Given the description of an element on the screen output the (x, y) to click on. 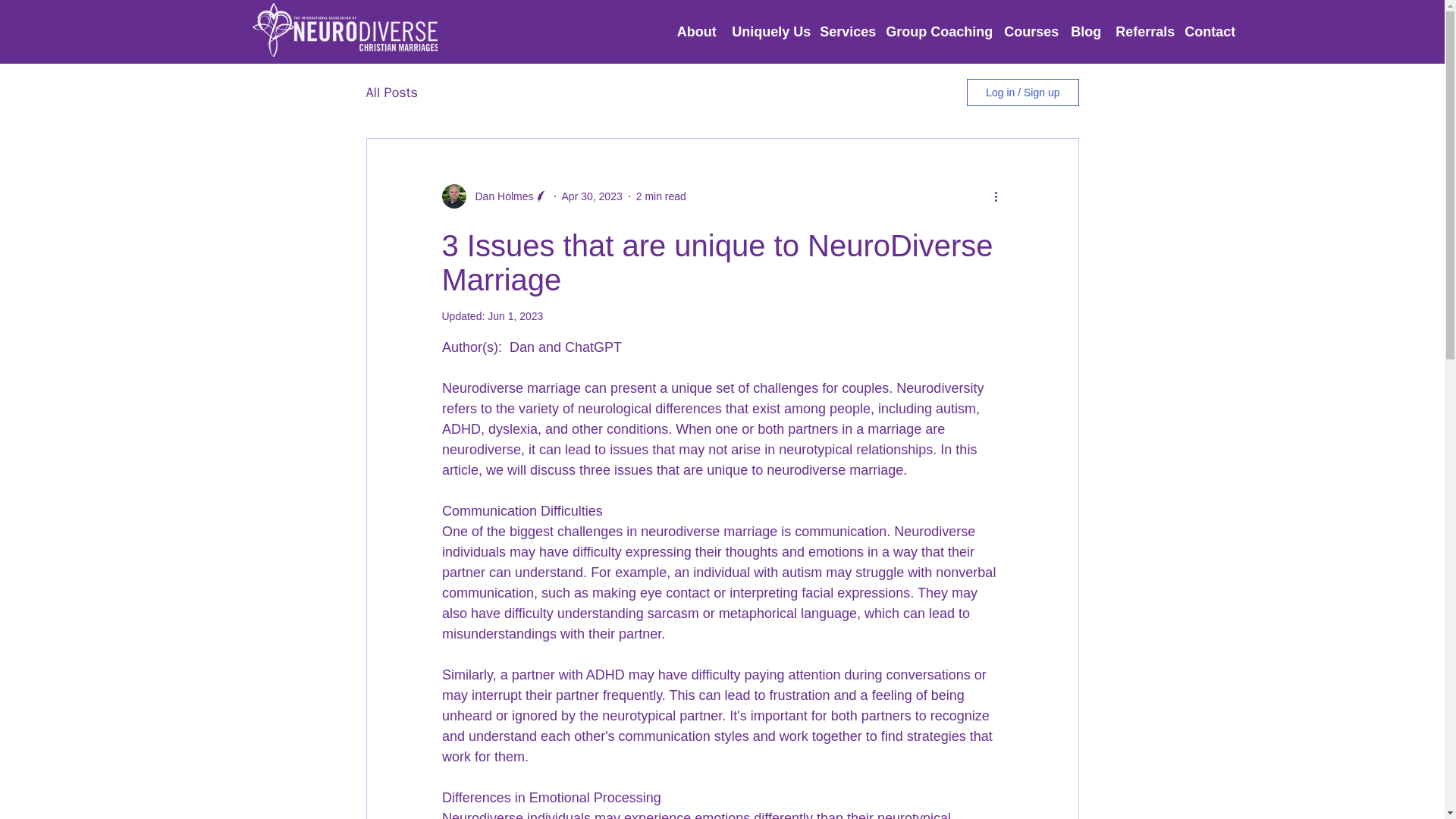
2 min read (660, 195)
Uniquely Us (767, 31)
All Posts (390, 92)
Contact (1208, 31)
Dan Holmes (498, 195)
Apr 30, 2023 (592, 195)
Courses (1028, 31)
About (695, 31)
Group Coaching (936, 31)
Services (844, 31)
Referrals (1142, 31)
Blog (1085, 31)
Jun 1, 2023 (515, 316)
